Given the description of an element on the screen output the (x, y) to click on. 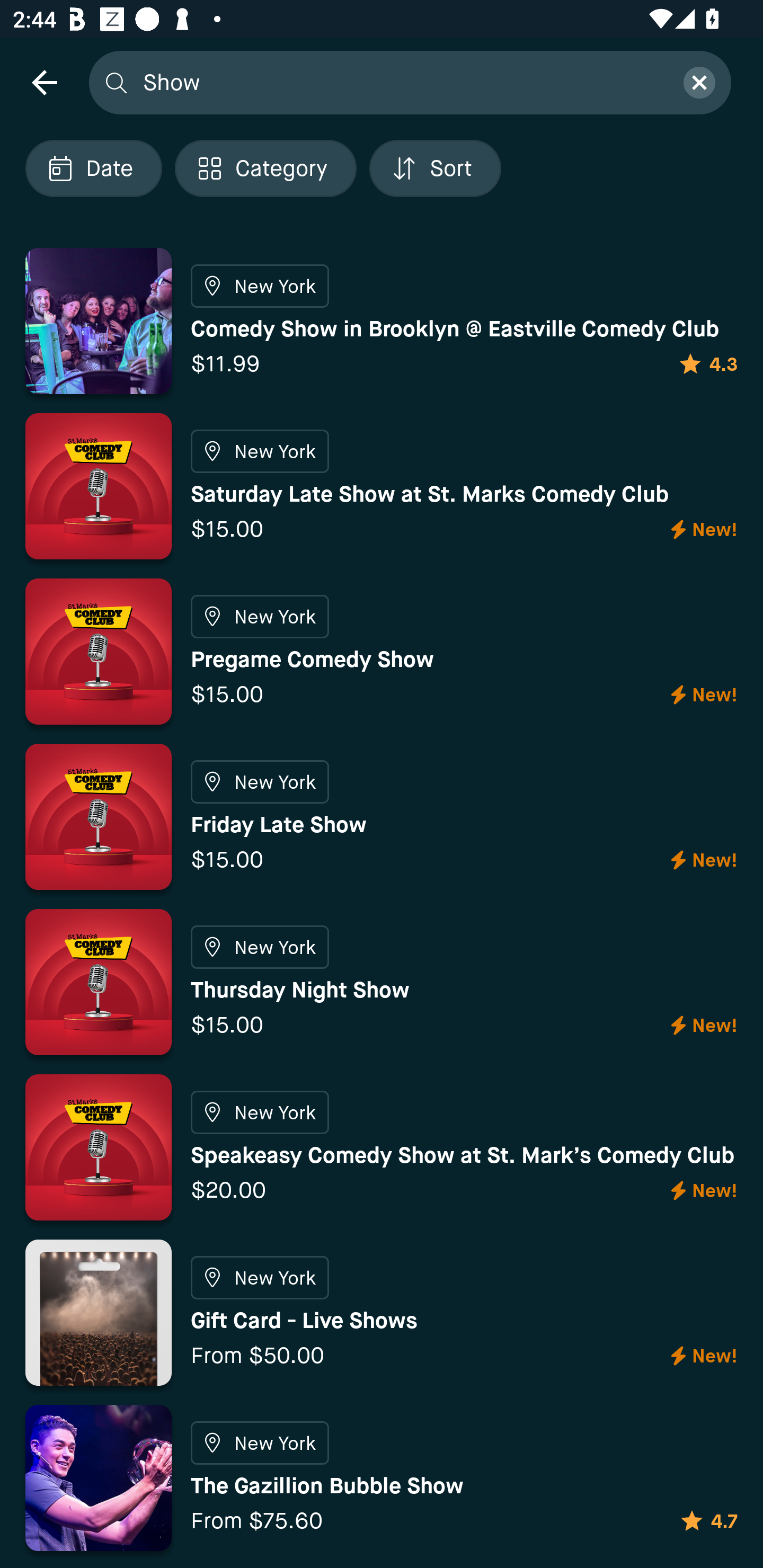
navigation icon (44, 81)
Show (402, 81)
Localized description Date (93, 168)
Localized description Category (265, 168)
Localized description Sort (435, 168)
